Given the description of an element on the screen output the (x, y) to click on. 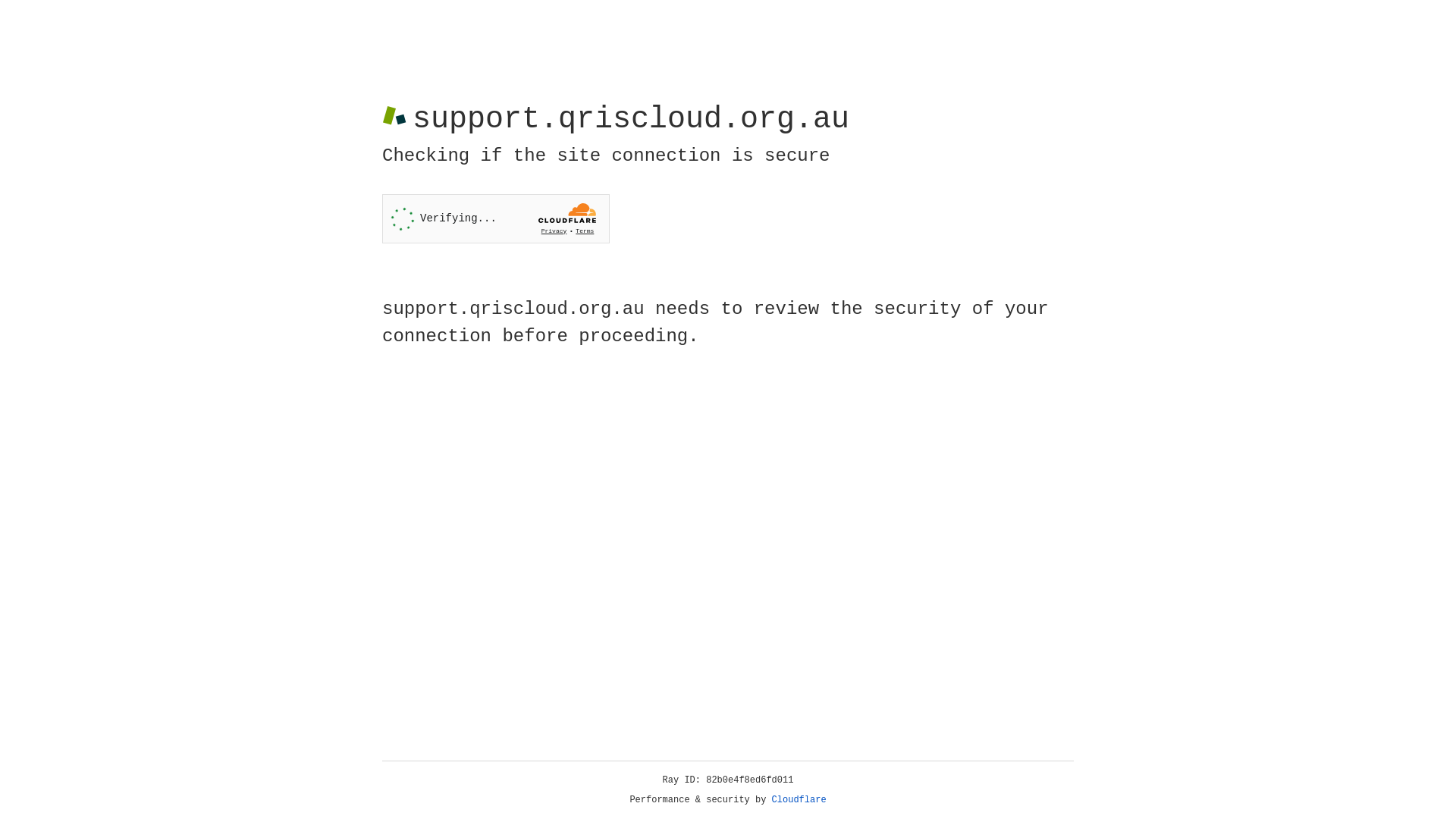
Widget containing a Cloudflare security challenge Element type: hover (495, 218)
Cloudflare Element type: text (798, 799)
